Given the description of an element on the screen output the (x, y) to click on. 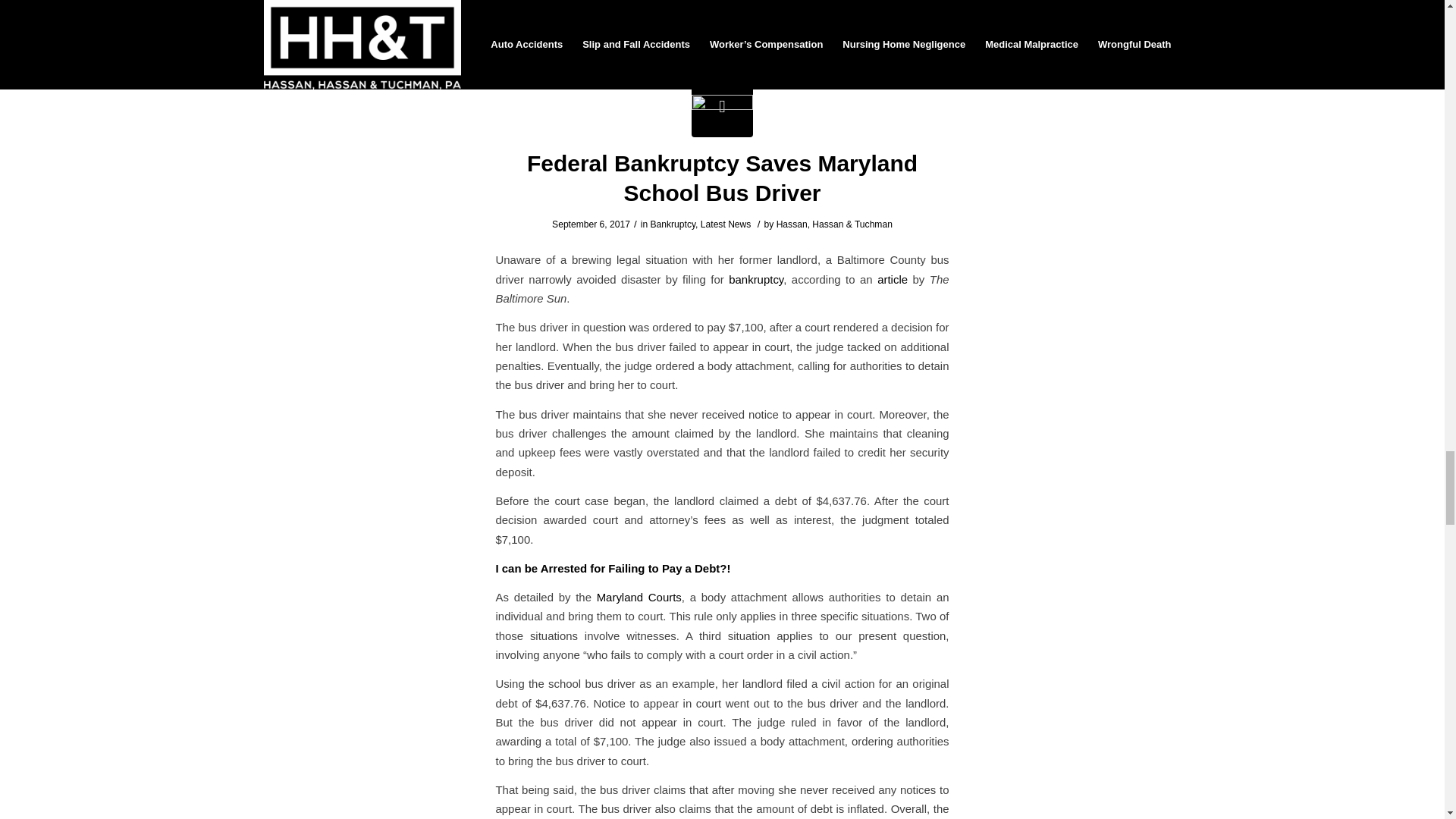
Federal Bankruptcy Saves Maryland School Bus Driver (721, 106)
